Given the description of an element on the screen output the (x, y) to click on. 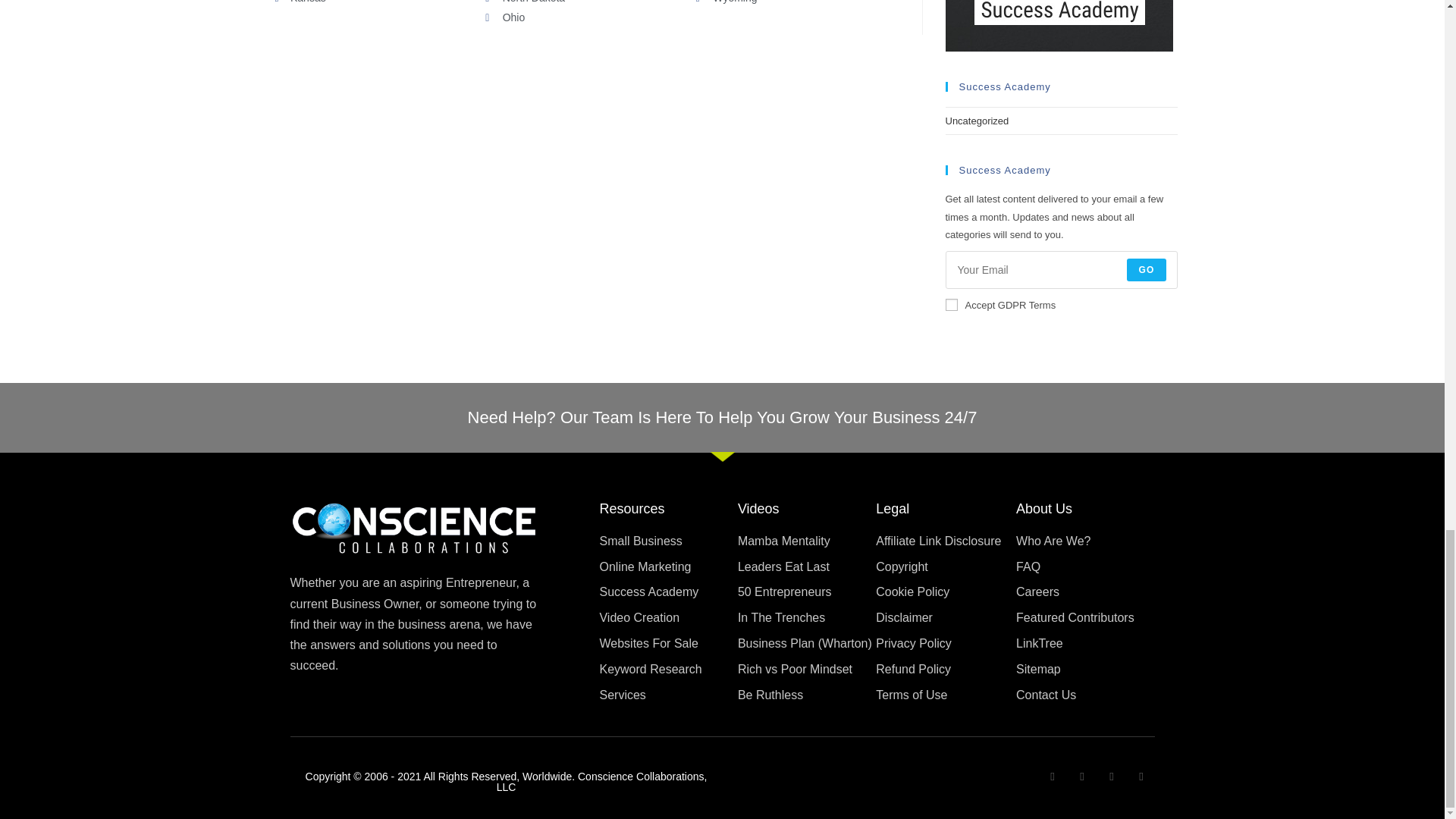
1 (950, 304)
